Given the description of an element on the screen output the (x, y) to click on. 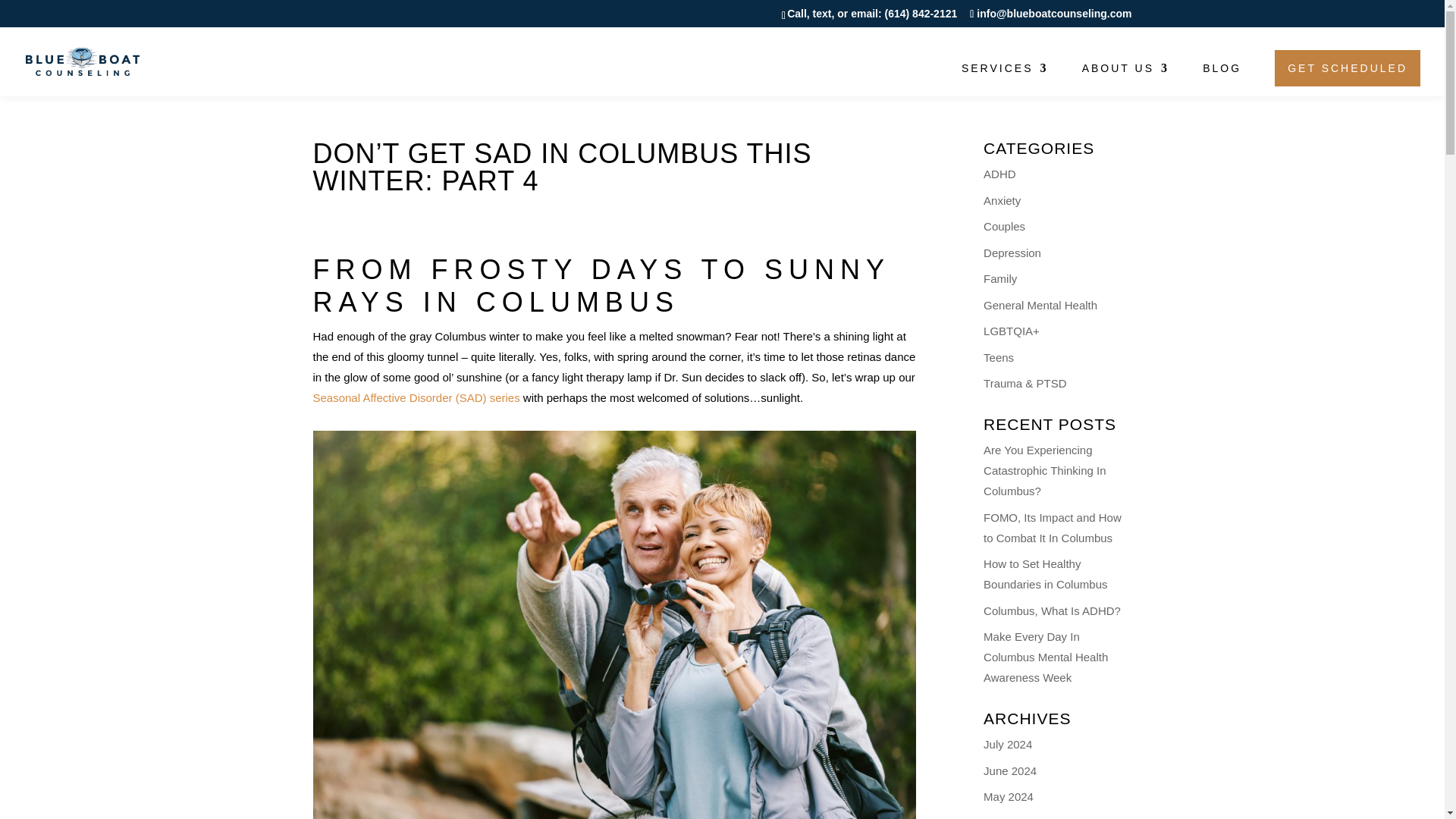
SERVICES (1004, 79)
BLOG (1221, 79)
ABOUT US (1125, 79)
GET SCHEDULED (1347, 68)
